Given the description of an element on the screen output the (x, y) to click on. 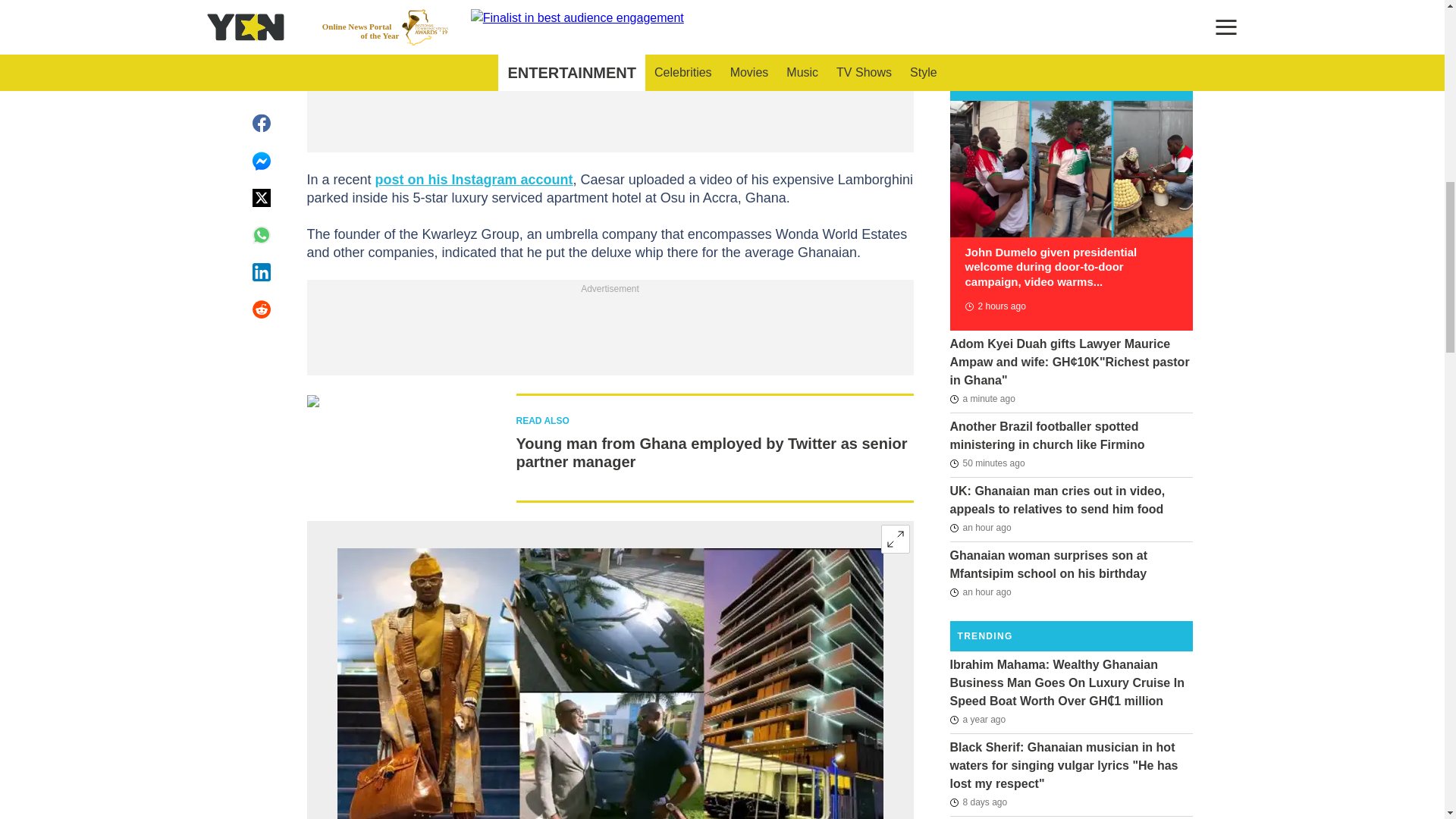
2024-08-06T18:13:45Z (979, 592)
2024-08-06T18:31:55Z (979, 527)
Expand image (895, 538)
2024-08-06T19:45:37Z (981, 398)
2024-08-06T18:56:25Z (987, 463)
2024-07-29T14:50:48Z (978, 802)
2022-09-19T10:12:37Z (977, 719)
2024-08-06T16:59:54Z (994, 306)
